Given the description of an element on the screen output the (x, y) to click on. 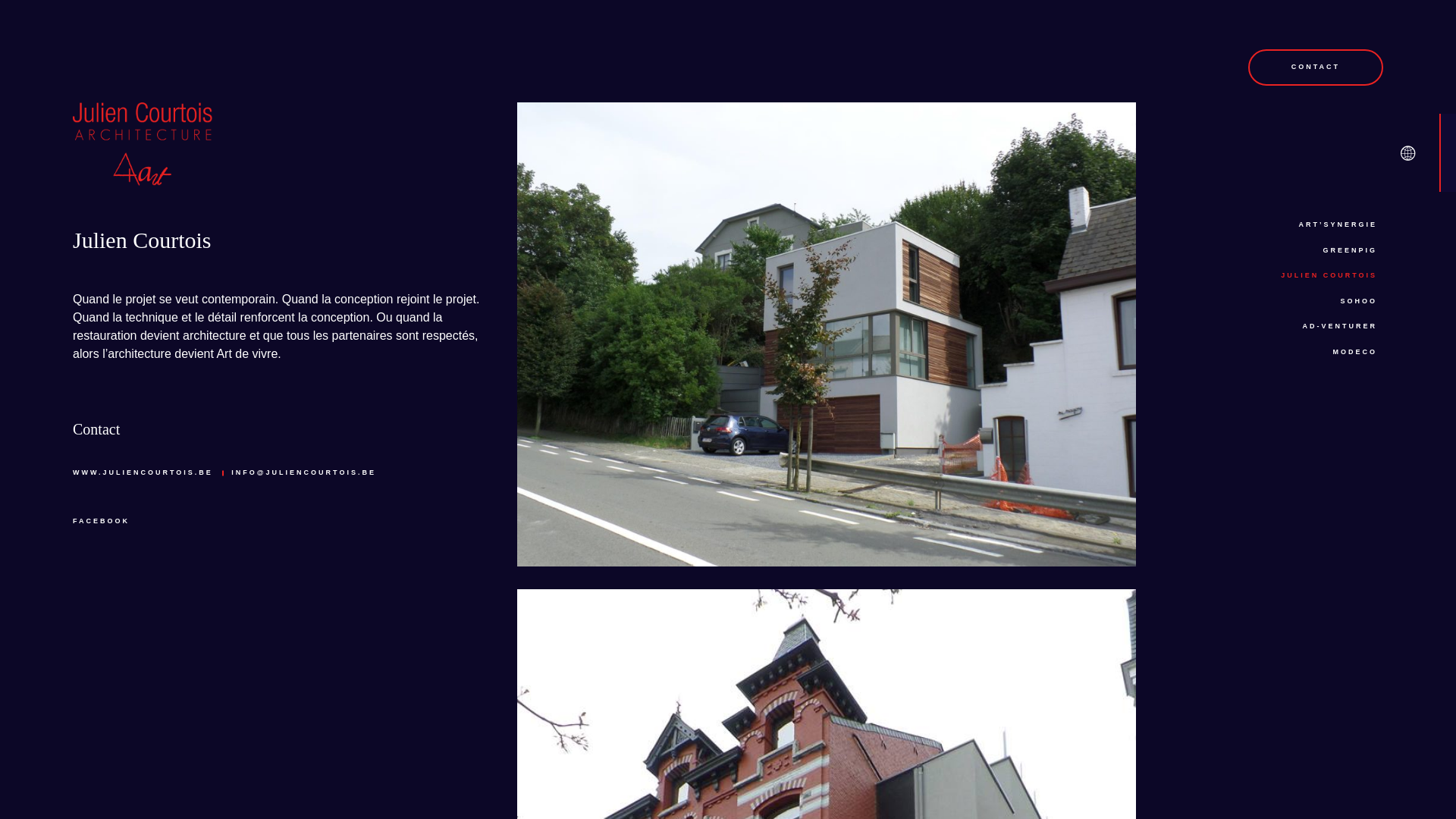
JULIEN COURTOIS Element type: text (1328, 275)
FACEBOOK Element type: text (100, 520)
WWW.JULIENCOURTOIS.BE Element type: text (142, 473)
SOHOO Element type: text (1358, 300)
GREENPIG Element type: text (1349, 250)
CONTACT Element type: text (1315, 67)
MODECO Element type: text (1355, 352)
AD-VENTURER Element type: text (1339, 326)
INFO@JULIENCOURTOIS.BE Element type: text (303, 473)
